Given the description of an element on the screen output the (x, y) to click on. 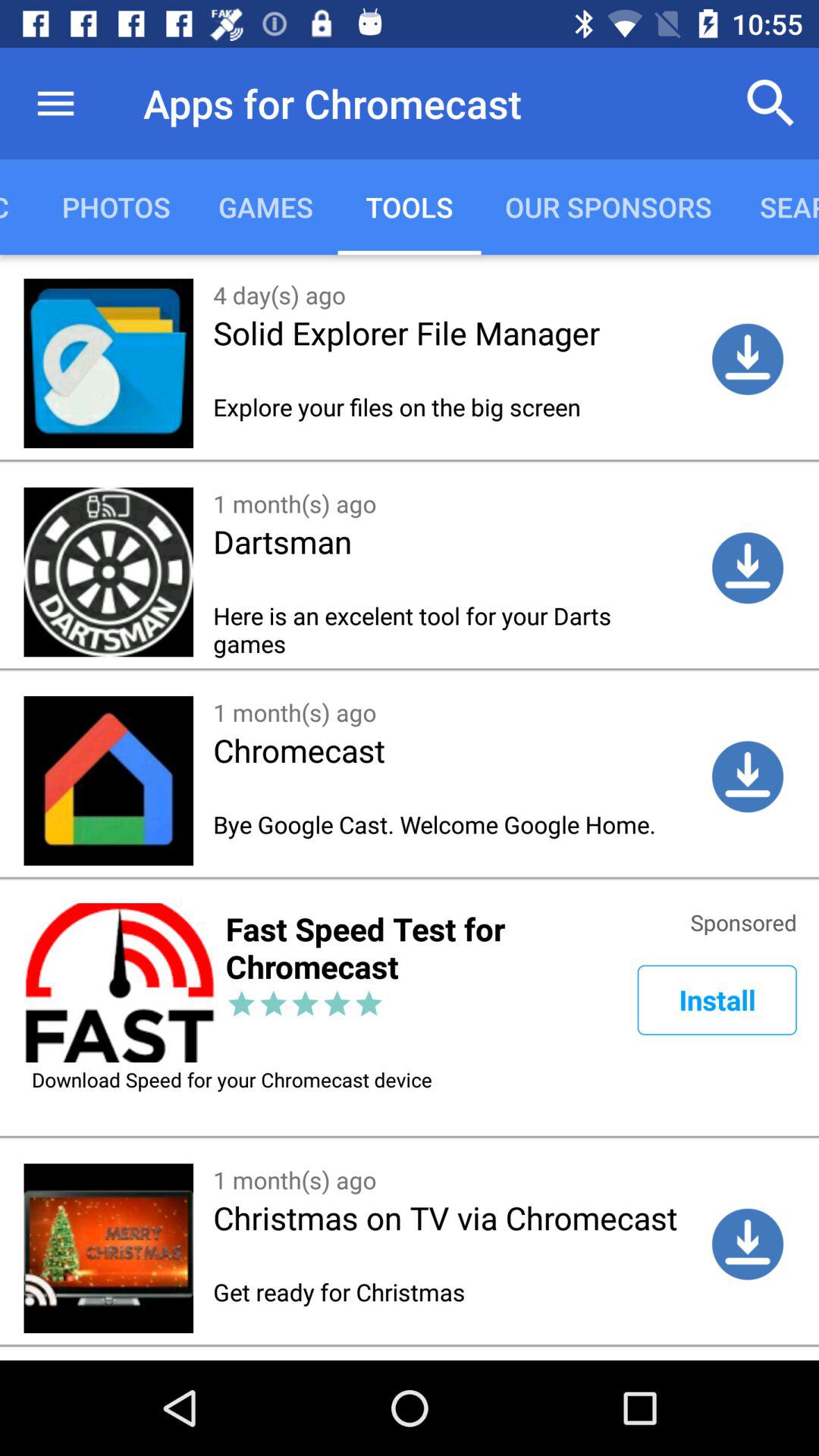
turn off icon above music icon (55, 103)
